Given the description of an element on the screen output the (x, y) to click on. 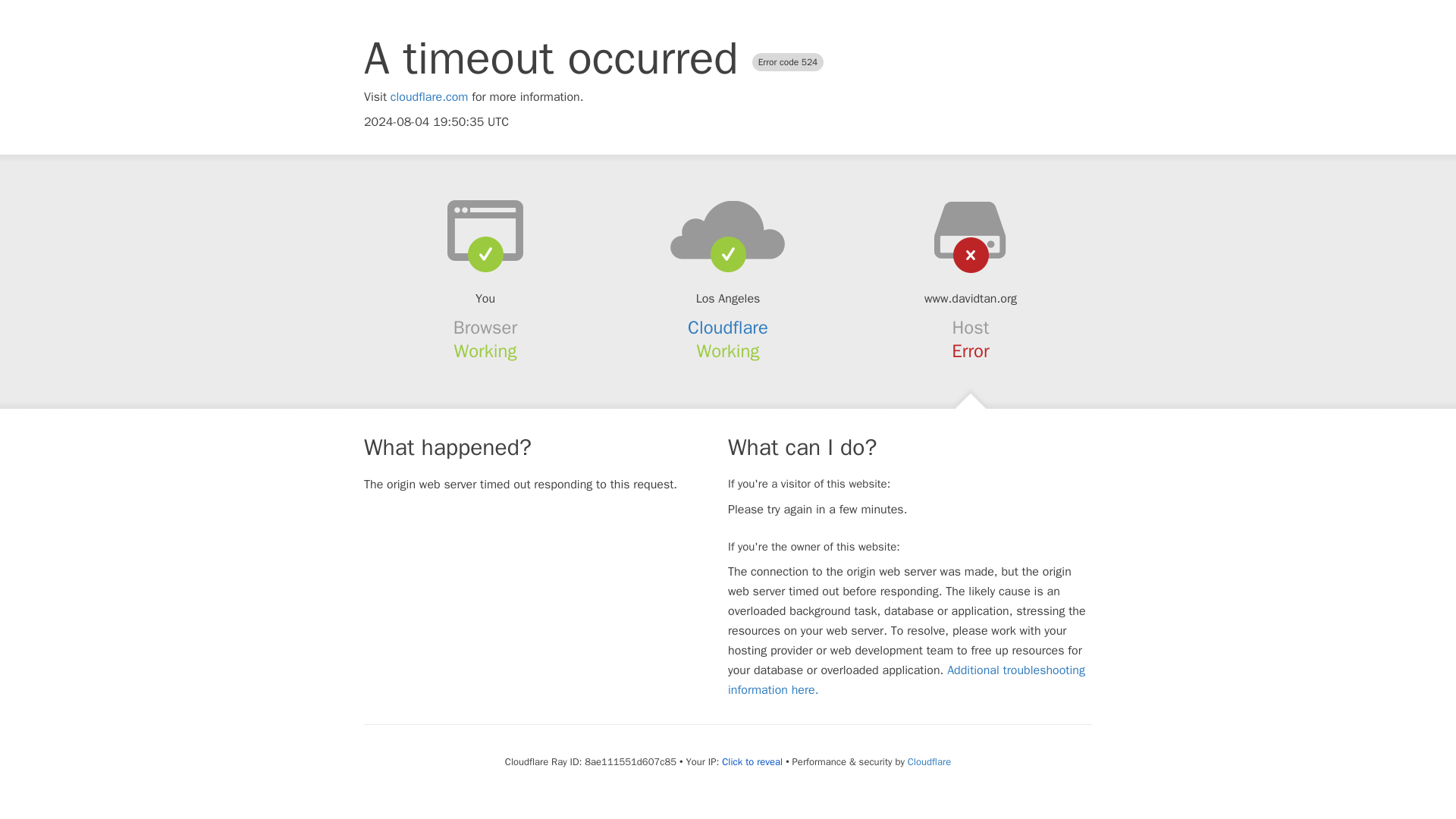
cloudflare.com (429, 96)
Click to reveal (752, 762)
Additional troubleshooting information here. (906, 679)
Cloudflare (727, 327)
Cloudflare (928, 761)
